Given the description of an element on the screen output the (x, y) to click on. 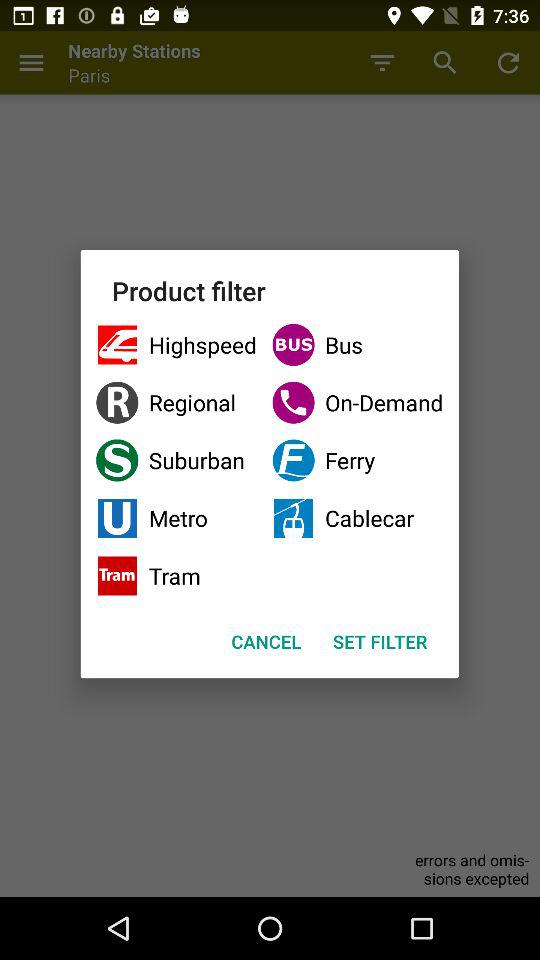
click item above cancel icon (176, 575)
